Given the description of an element on the screen output the (x, y) to click on. 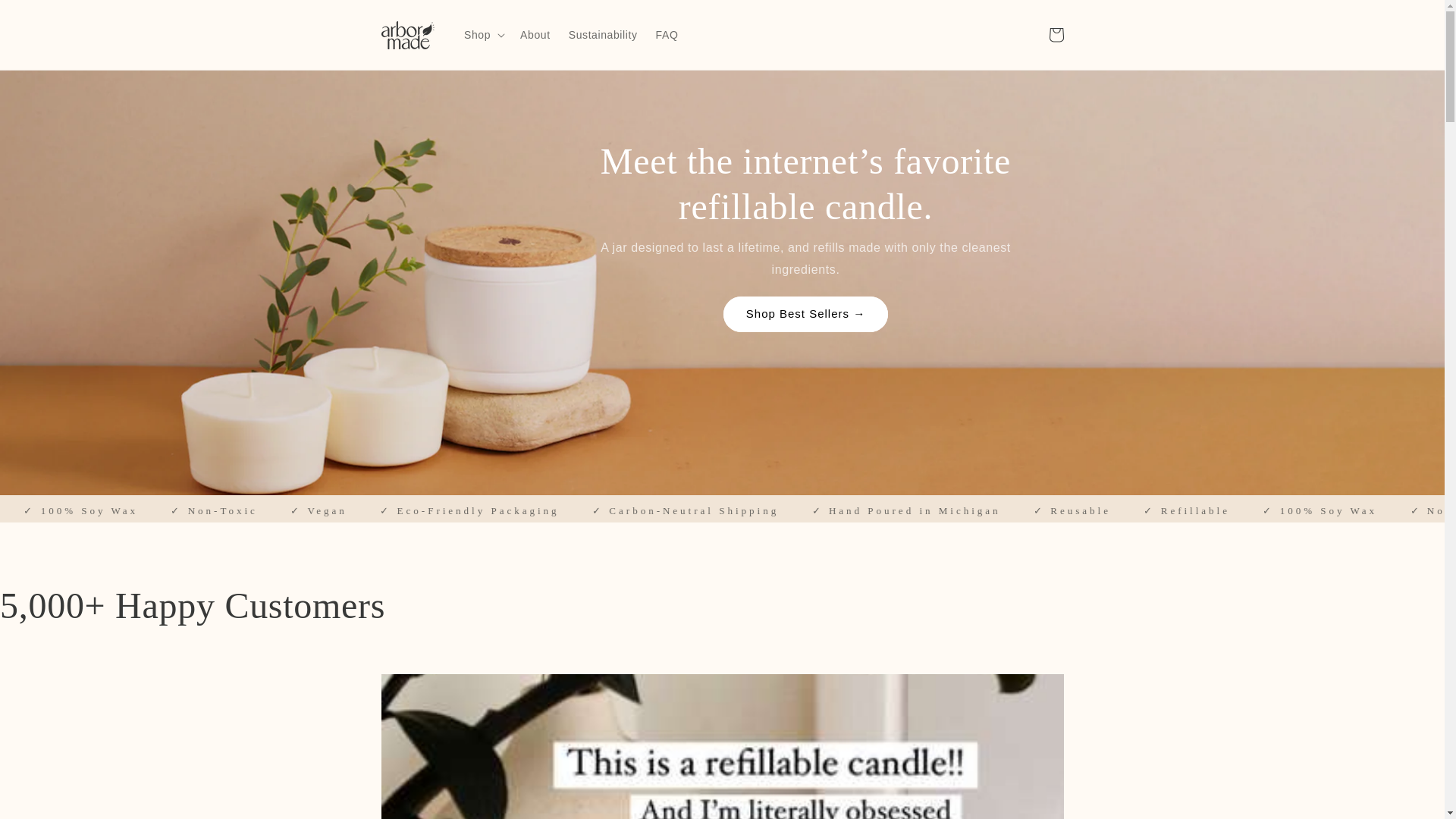
FAQ (666, 34)
Sustainability (602, 34)
Cart (1055, 34)
Skip to content (45, 17)
About (535, 34)
